Given the description of an element on the screen output the (x, y) to click on. 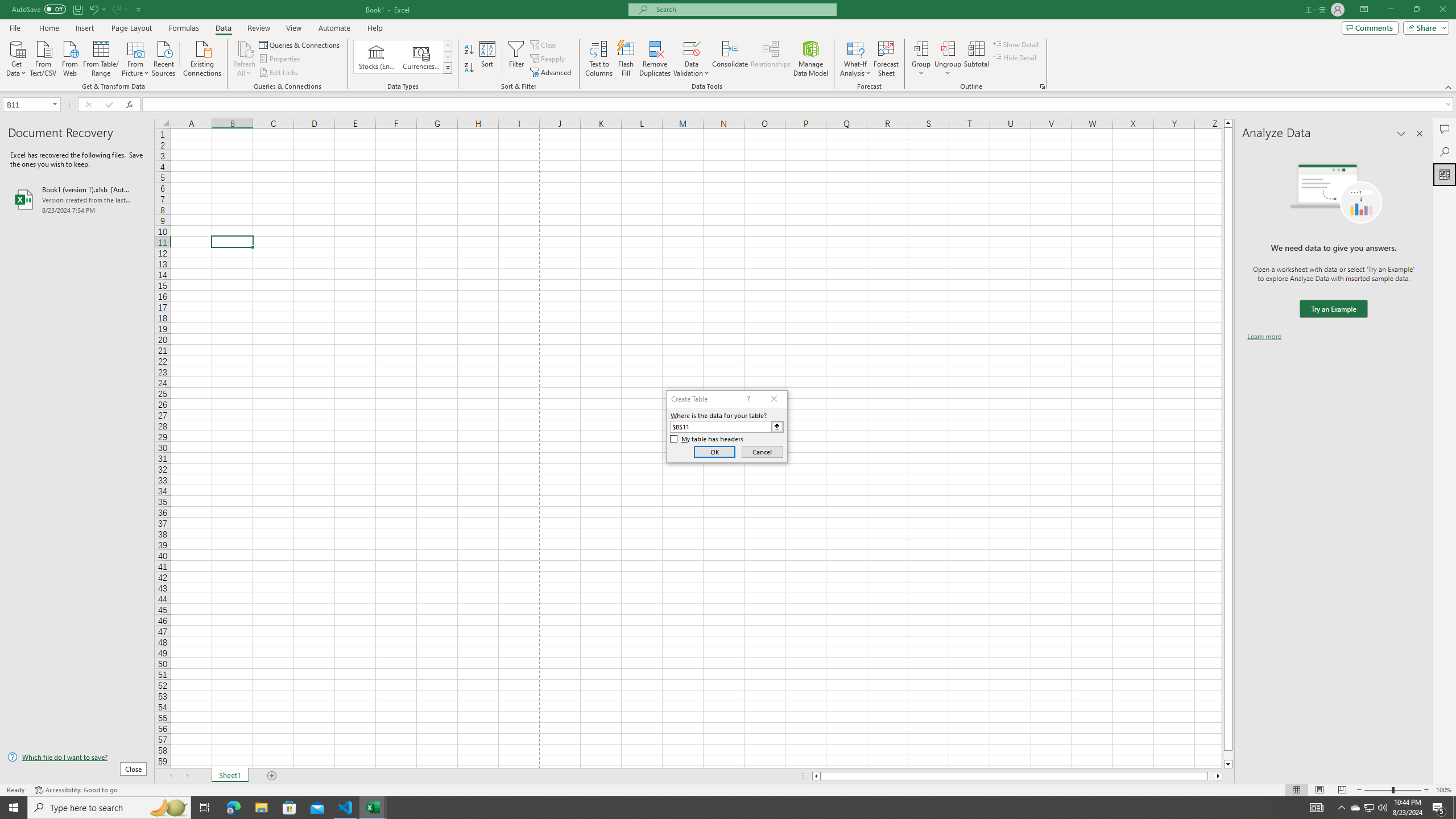
Reapply (548, 58)
Zoom Out (1377, 790)
Normal (1296, 790)
Home (48, 28)
Task Pane Options (1400, 133)
Class: NetUIScrollBar (1016, 775)
Collapse the Ribbon (1448, 86)
Book1 (version 1).xlsb  [AutoRecovered] (77, 199)
Search (1444, 151)
Minimize (1390, 9)
Subtotal (976, 58)
